Given the description of an element on the screen output the (x, y) to click on. 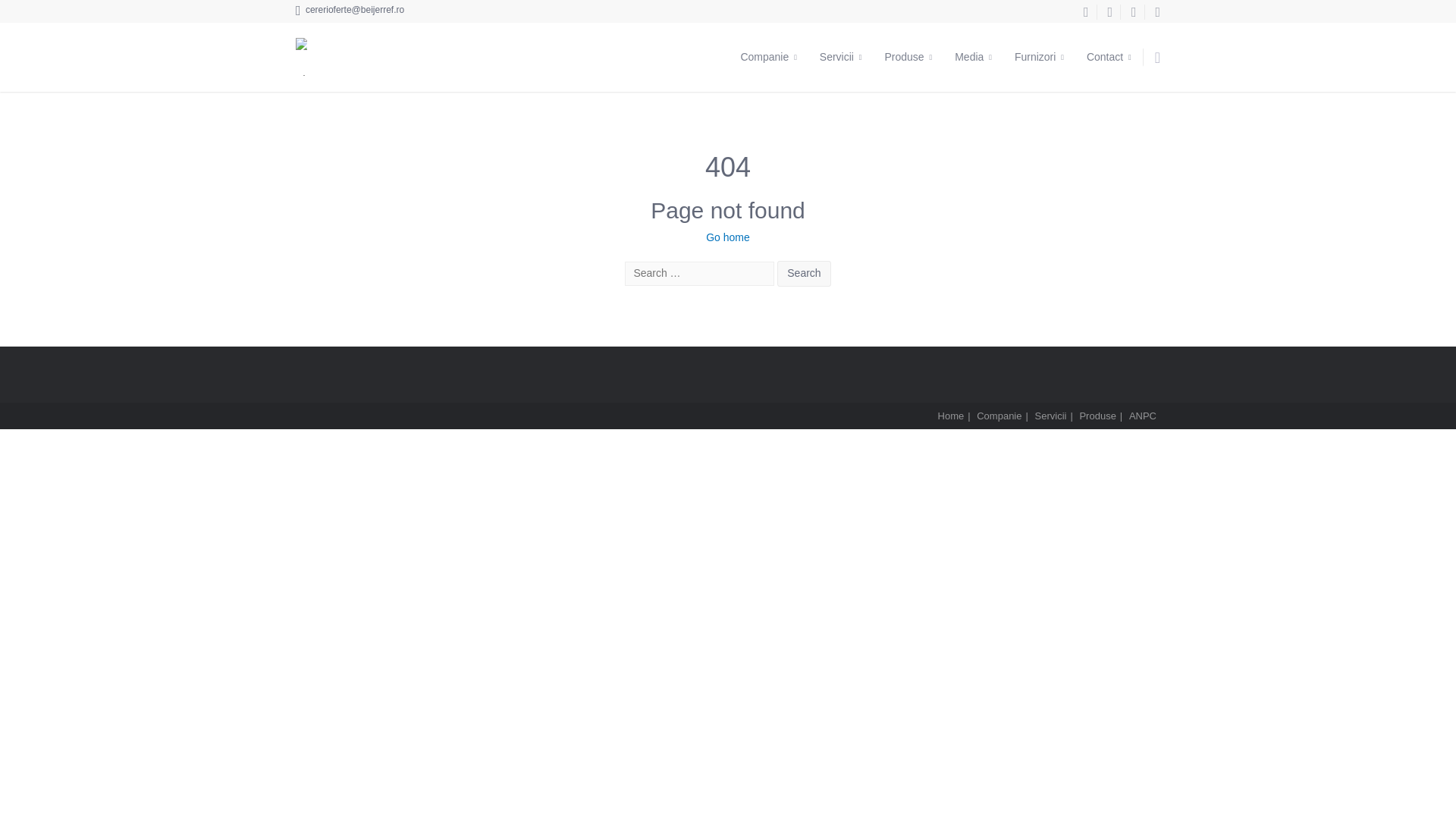
Servicii (840, 56)
Search (803, 273)
Search (803, 273)
Companie (768, 56)
Produse (907, 56)
